Given the description of an element on the screen output the (x, y) to click on. 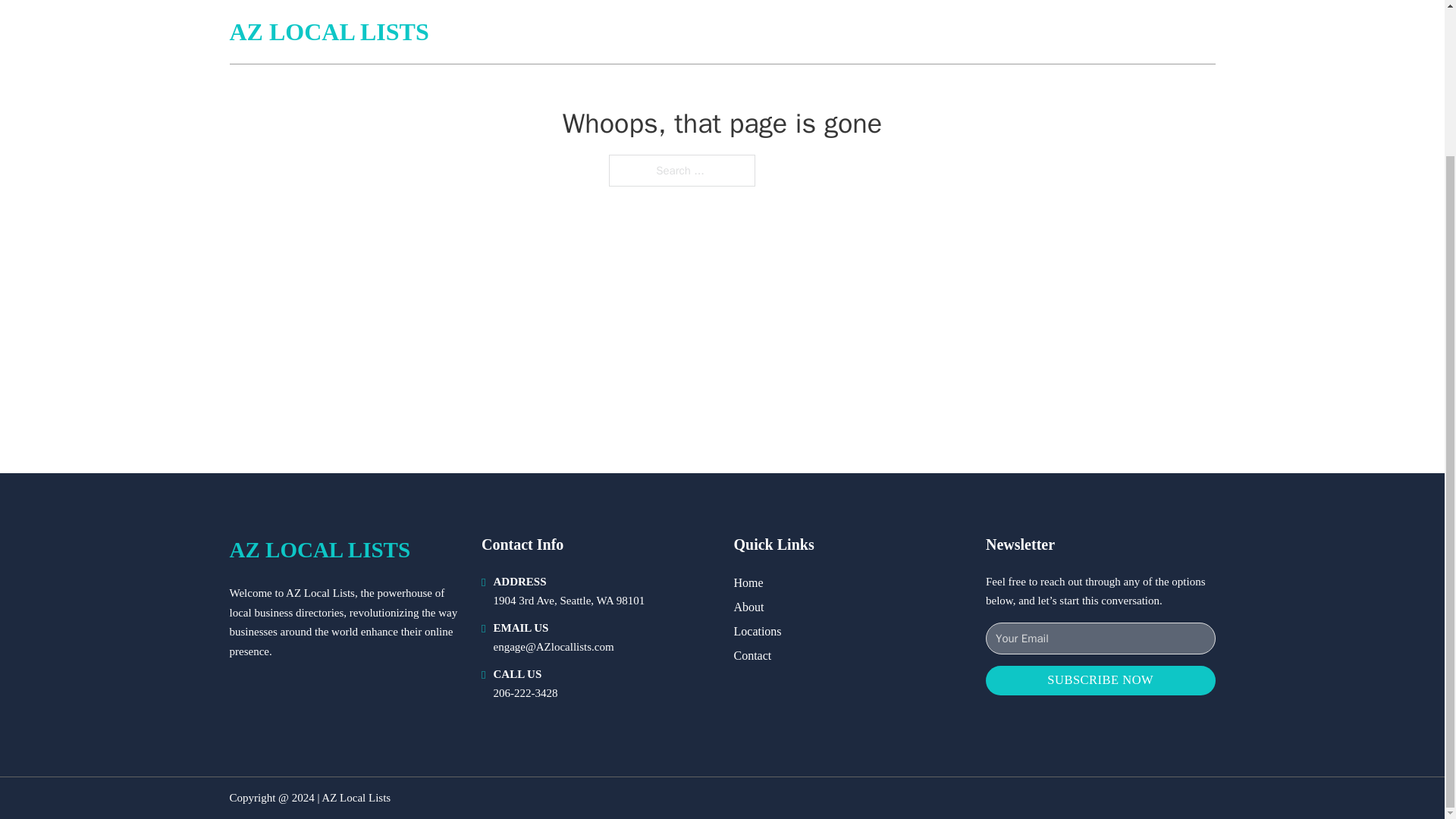
About (748, 607)
206-222-3428 (525, 693)
AZ LOCAL LISTS (319, 549)
Locations (757, 630)
Home (747, 582)
Contact (752, 655)
SUBSCRIBE NOW (1100, 680)
